Given the description of an element on the screen output the (x, y) to click on. 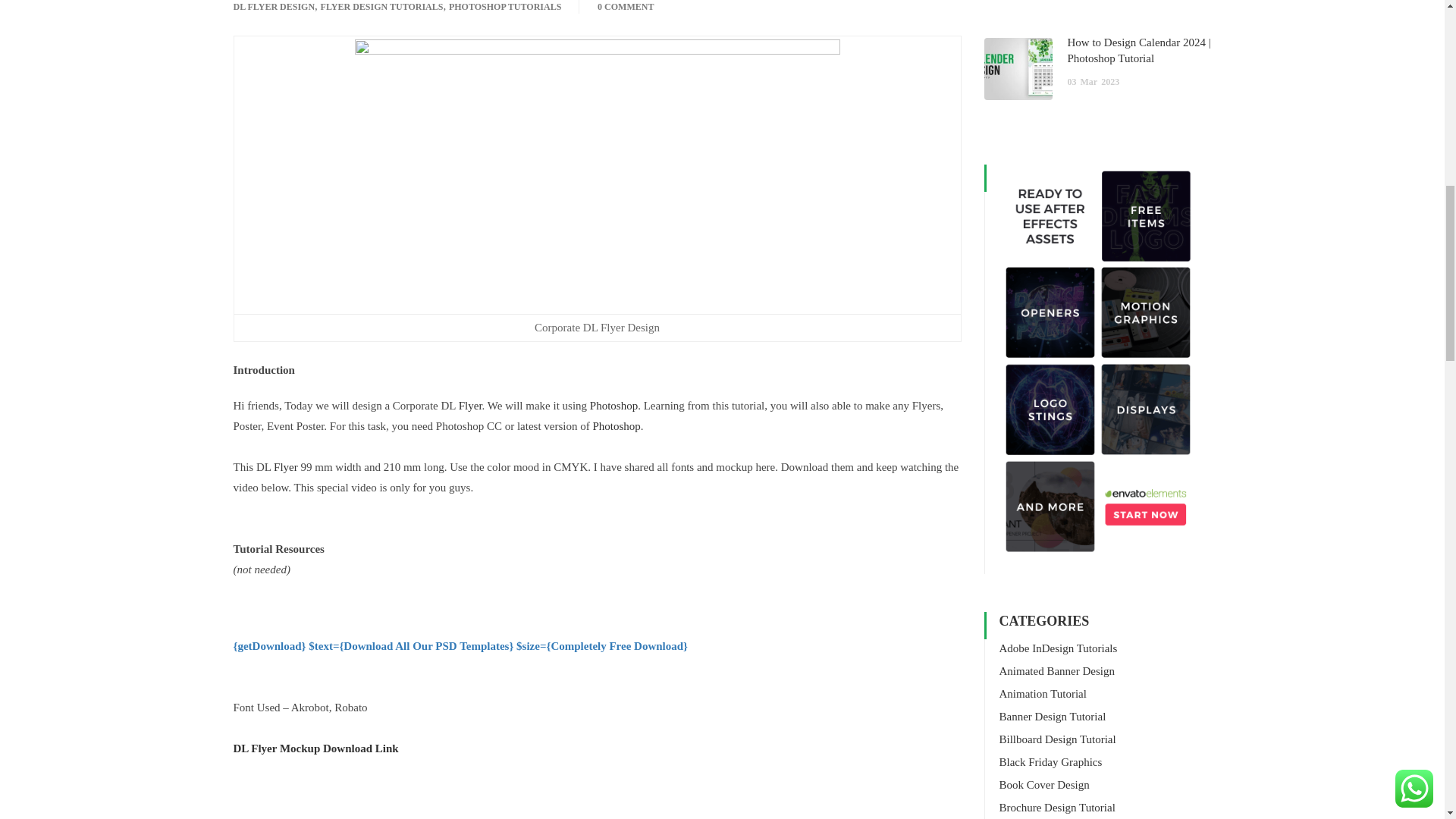
PHOTOSHOP TUTORIALS (504, 6)
Flyer (469, 405)
DL FLYER DESIGN (273, 6)
FLYER DESIGN TUTORIALS (382, 6)
Photoshop (616, 426)
Photoshop (613, 405)
0 COMMENT (624, 6)
